Given the description of an element on the screen output the (x, y) to click on. 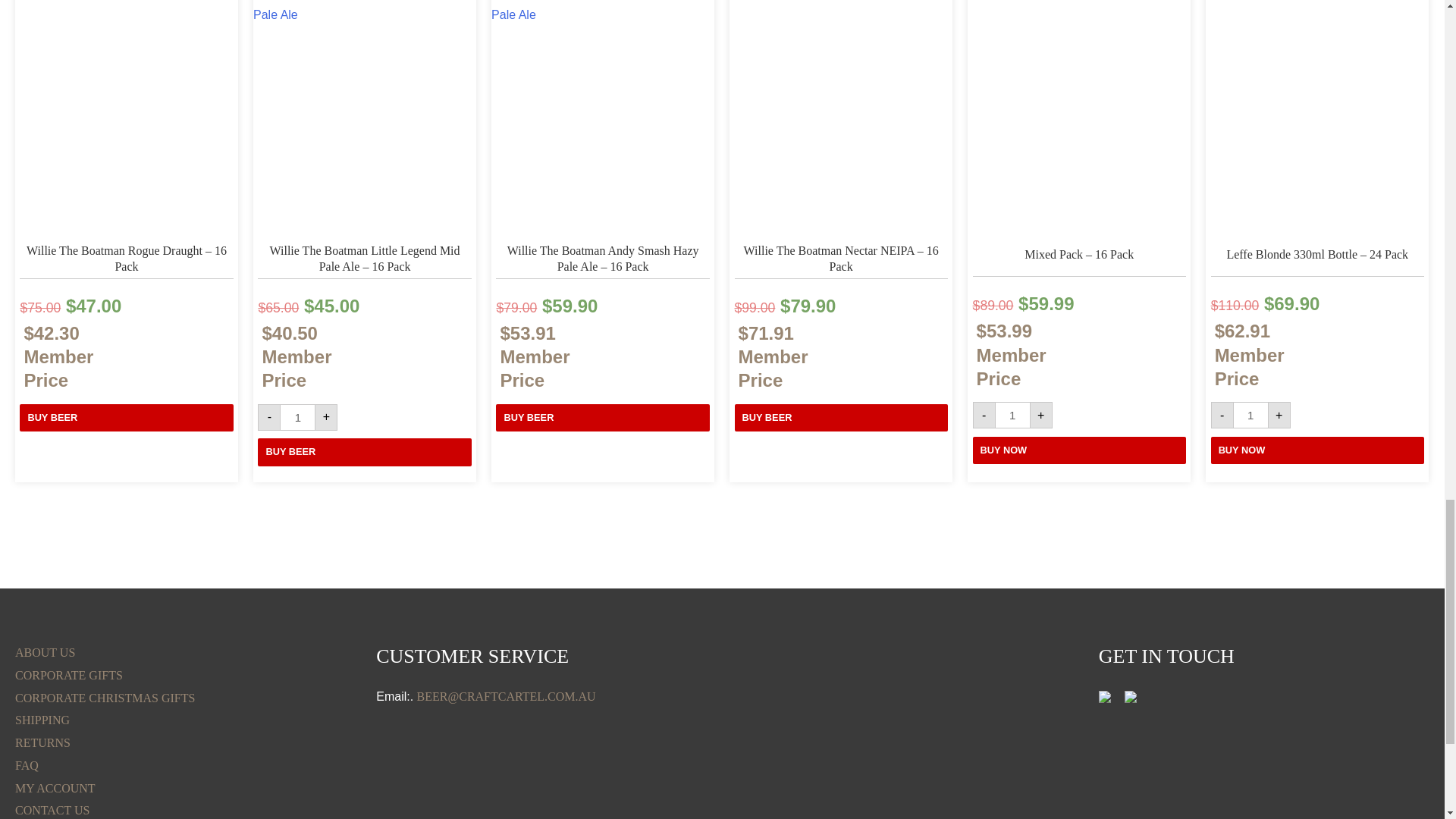
Qty (1250, 415)
1 (297, 417)
1 (1012, 415)
Qty (297, 417)
1 (1250, 415)
Qty (1012, 415)
